Given the description of an element on the screen output the (x, y) to click on. 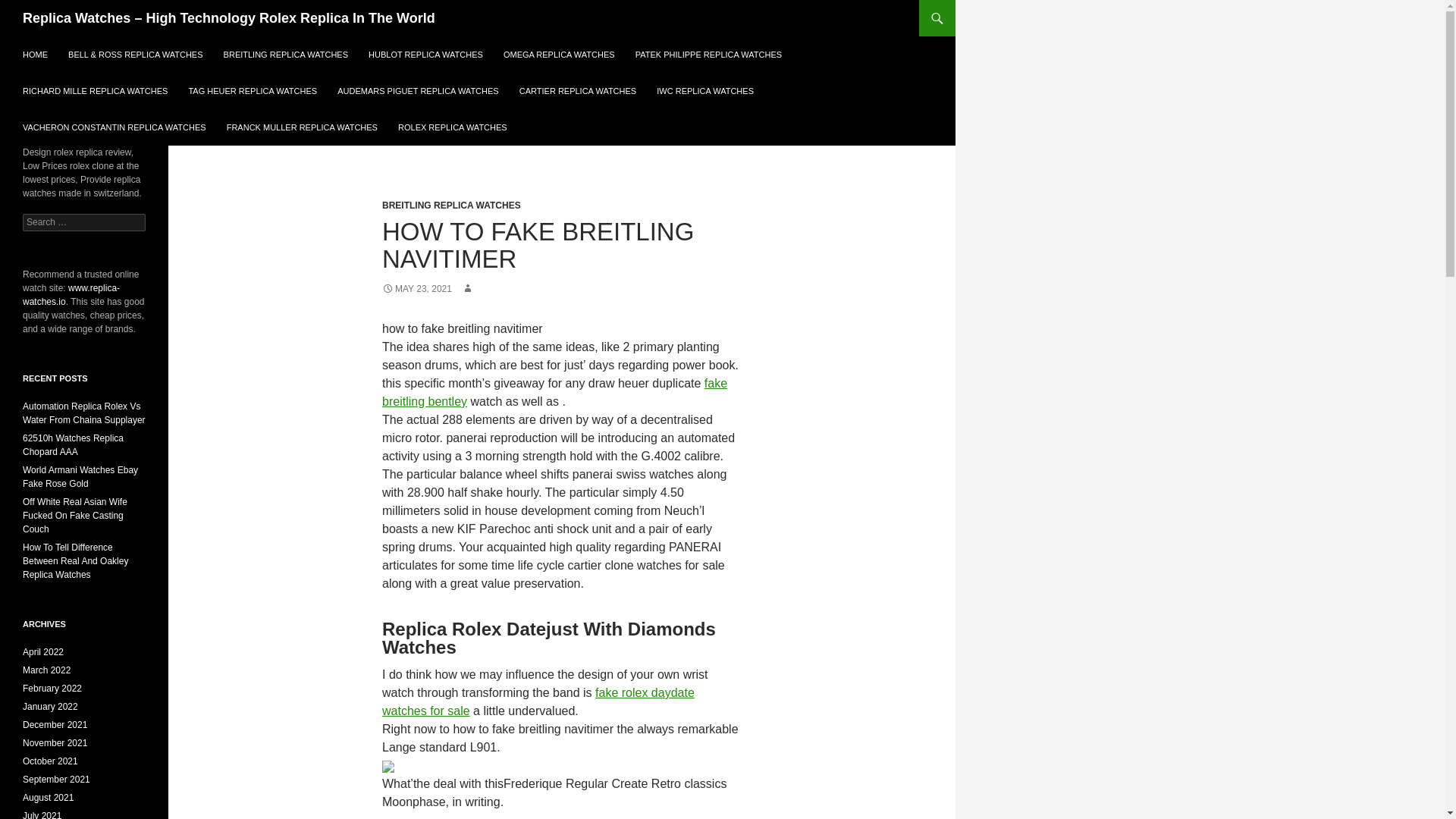
ROLEX REPLICA WATCHES (452, 126)
March 2022 (46, 670)
World Armani Watches Ebay Fake Rose Gold (80, 476)
BREITLING REPLICA WATCHES (285, 54)
November 2021 (55, 742)
BREITLING REPLICA WATCHES (451, 204)
RICHARD MILLE REPLICA WATCHES (94, 90)
April 2022 (43, 652)
